Given the description of an element on the screen output the (x, y) to click on. 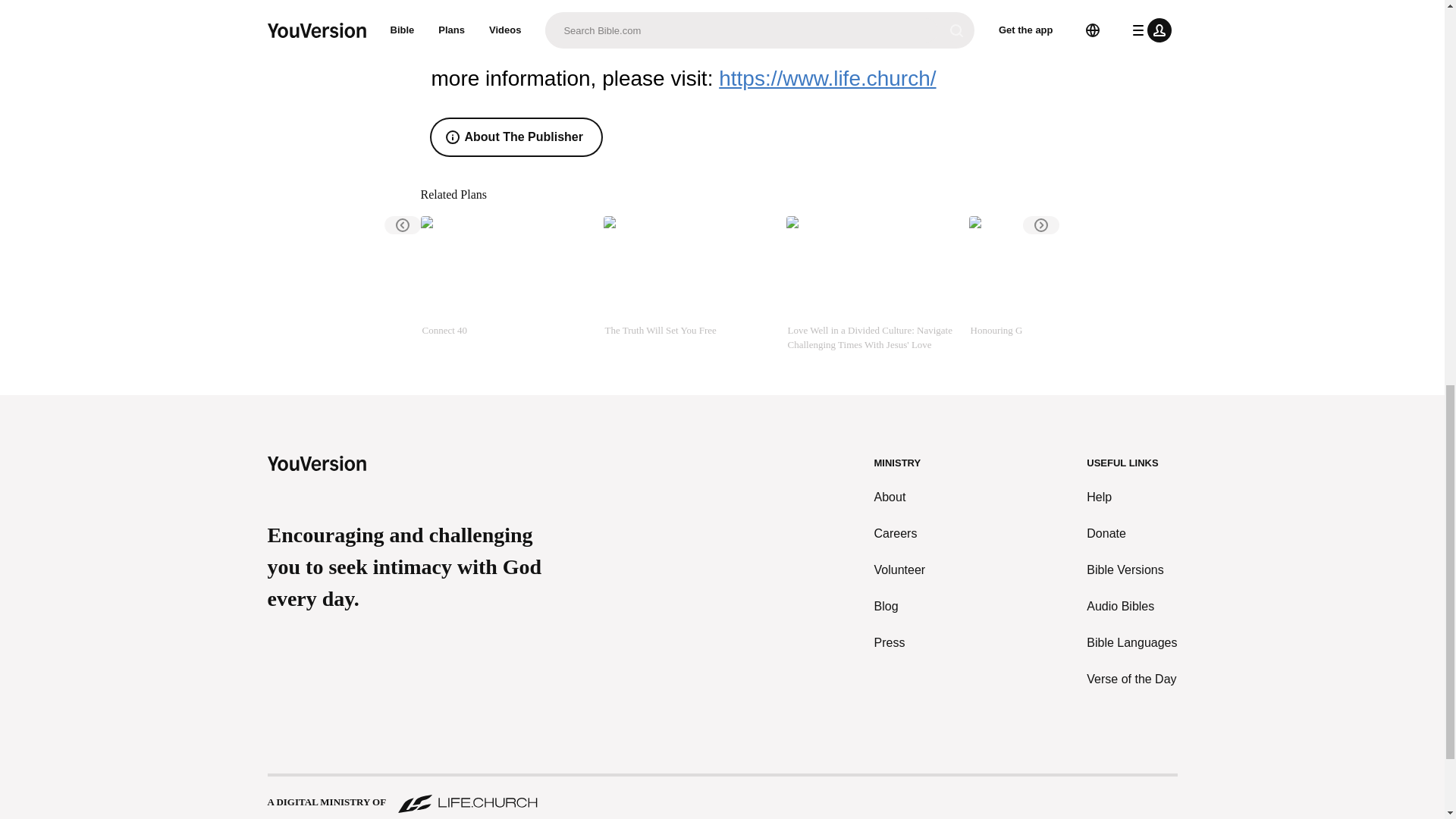
The Truth Will Set You Free (689, 284)
Bible Languages (1131, 642)
Connect 40 (505, 284)
A DIGITAL MINISTRY OF (721, 794)
Help (1131, 497)
About The Publisher (514, 136)
Honouring God With Our Finances (1054, 284)
Audio Bibles (1131, 606)
Careers (900, 533)
